Given the description of an element on the screen output the (x, y) to click on. 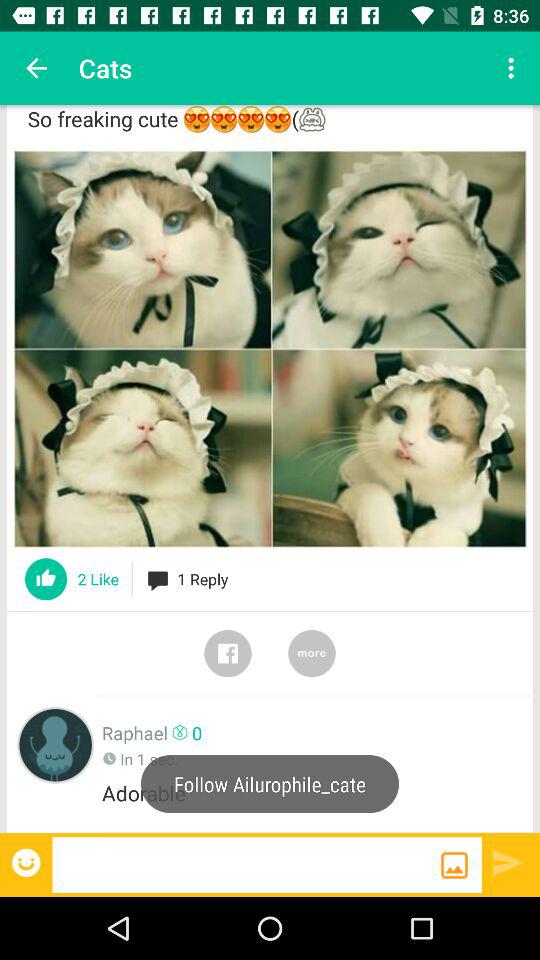
see profile picture (55, 744)
